Given the description of an element on the screen output the (x, y) to click on. 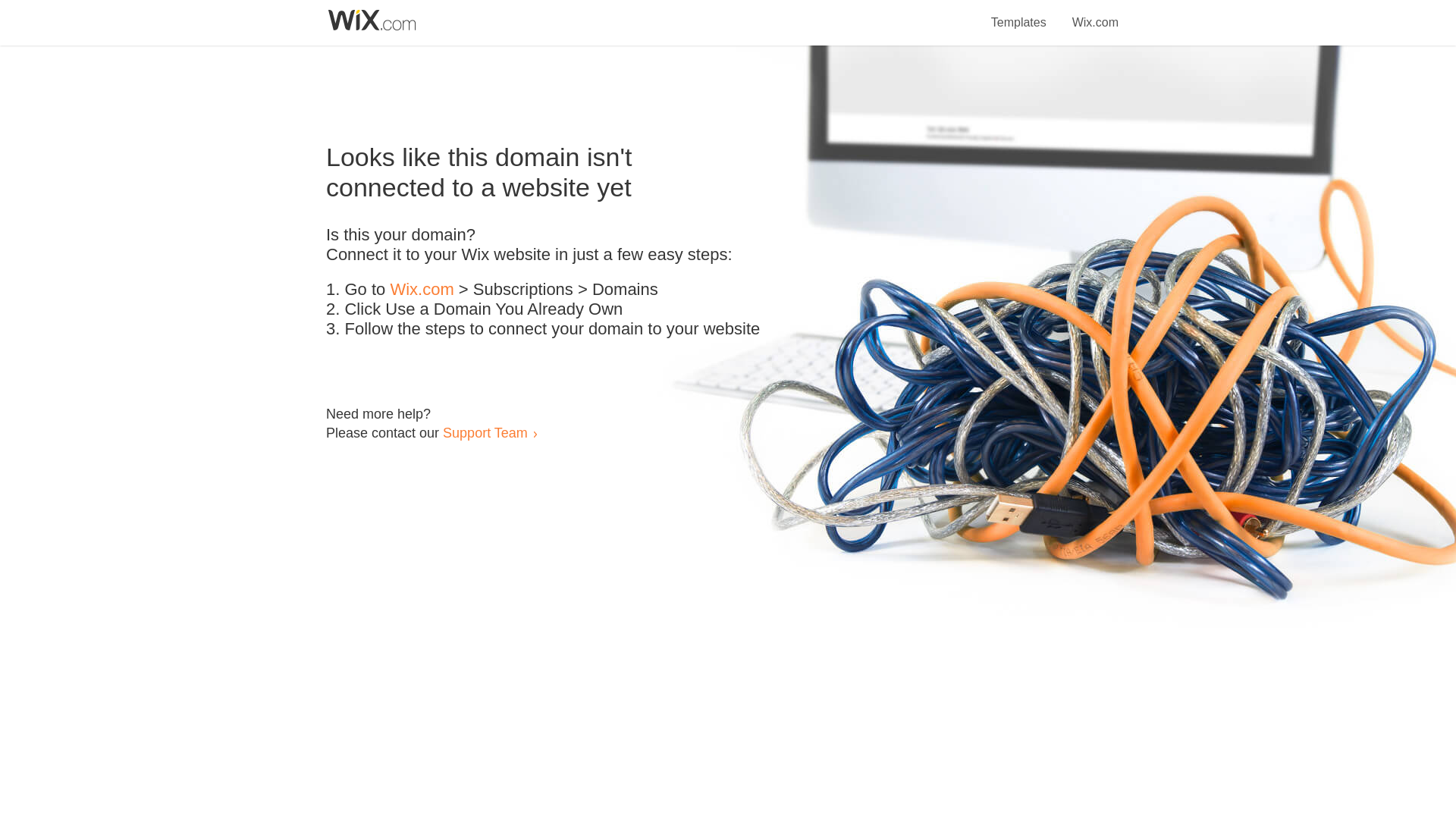
Wix.com (1095, 14)
Wix.com (421, 289)
Support Team (484, 432)
Templates (1018, 14)
